Given the description of an element on the screen output the (x, y) to click on. 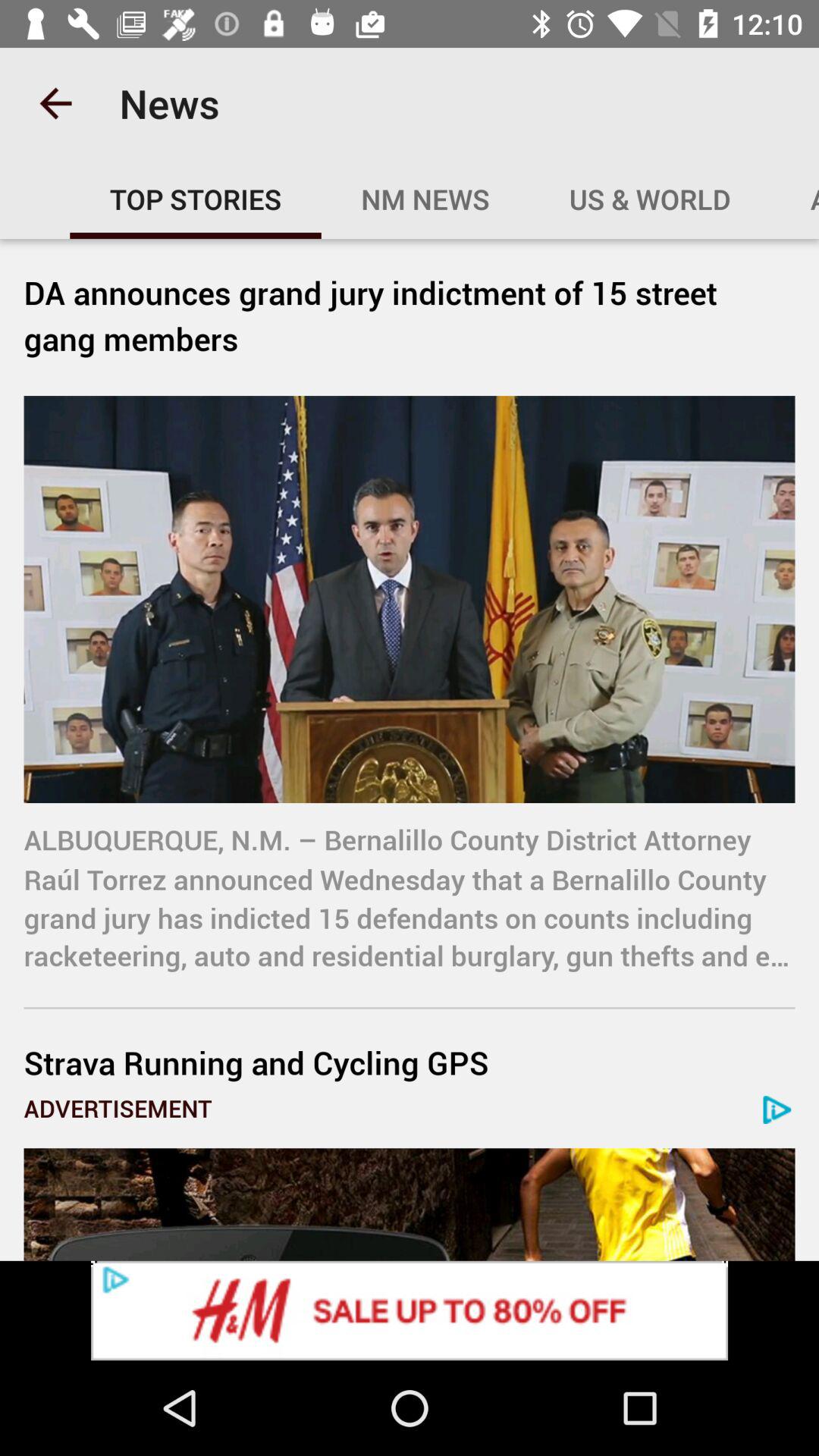
flip to the strava running and icon (409, 1062)
